Given the description of an element on the screen output the (x, y) to click on. 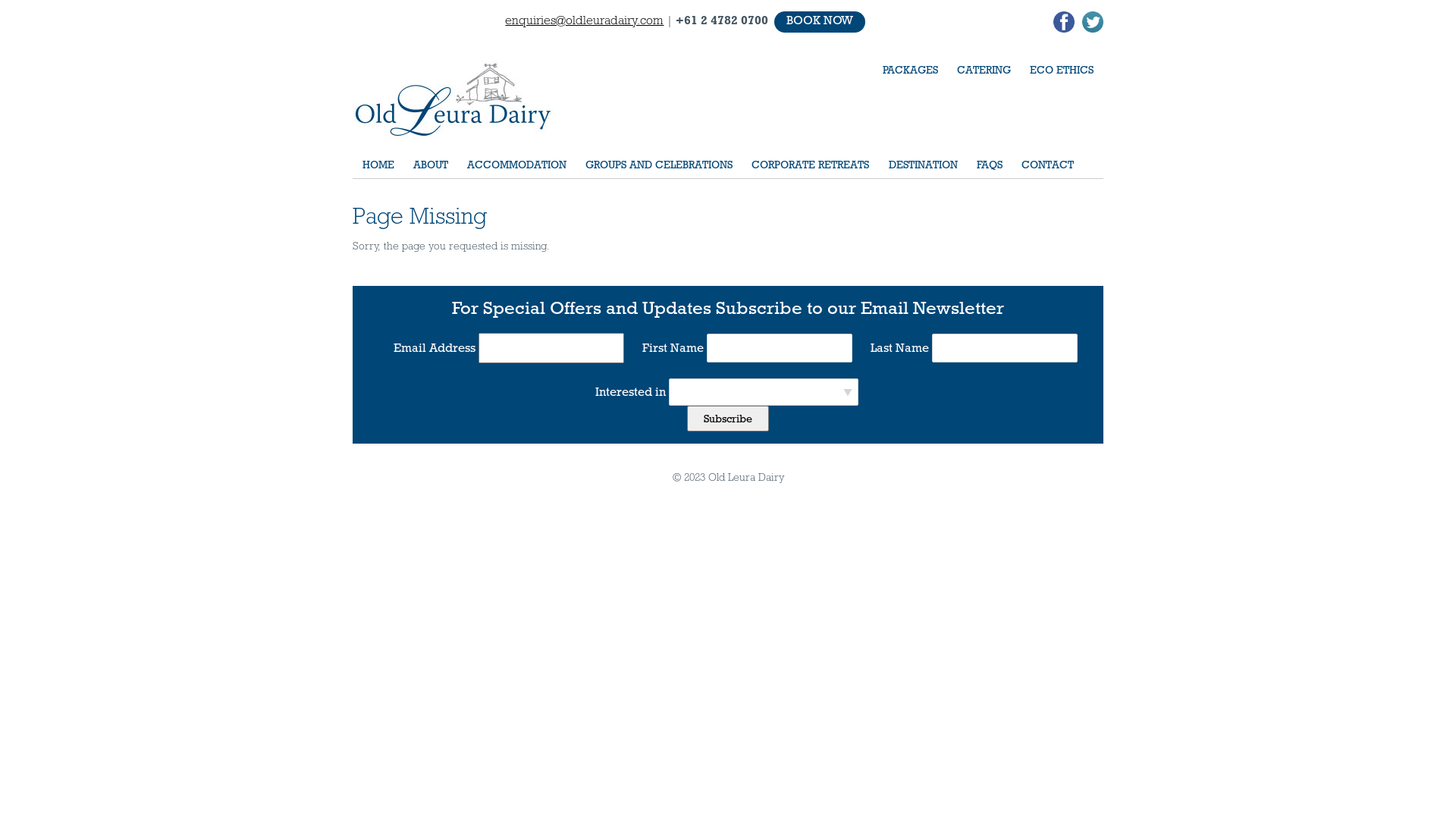
HOME Element type: text (377, 164)
PACKAGES Element type: text (909, 69)
BOOK NOW Element type: text (819, 21)
ECO ETHICS Element type: text (1061, 69)
DESTINATION Element type: text (922, 164)
GROUPS AND CELEBRATIONS Element type: text (659, 164)
enquiries@oldleuradairy.com Element type: text (584, 20)
FAQS Element type: text (988, 164)
CATERING Element type: text (983, 69)
CORPORATE RETREATS Element type: text (810, 164)
ABOUT Element type: text (430, 164)
ACCOMMODATION Element type: text (516, 164)
CONTACT Element type: text (1046, 164)
Subscribe Element type: text (727, 418)
